Given the description of an element on the screen output the (x, y) to click on. 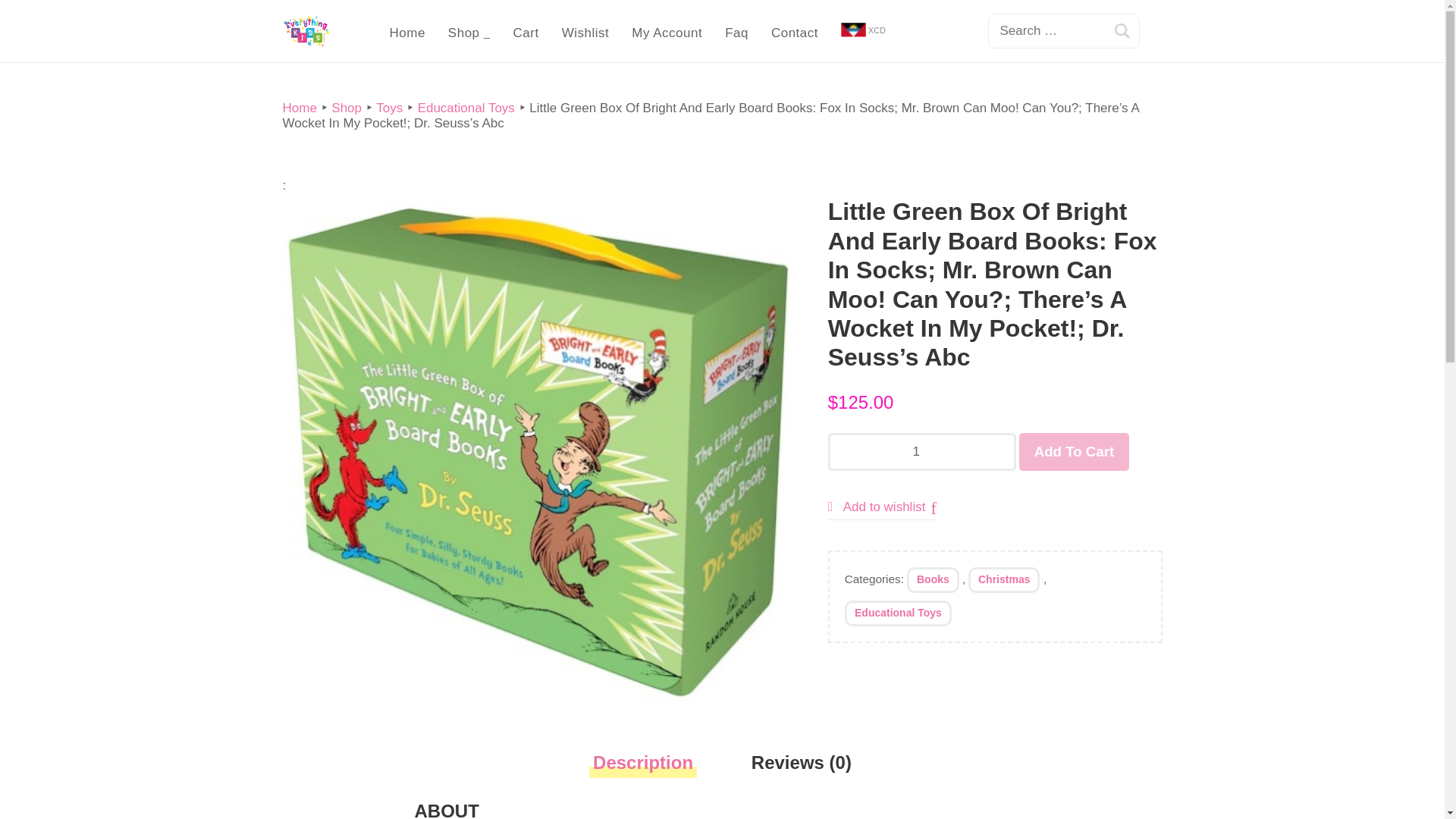
Home (298, 107)
1 (922, 451)
Shop (346, 107)
Toys (389, 107)
Press enter to search (1062, 30)
Shop (469, 33)
Educational Toys (466, 107)
Home (406, 33)
